Given the description of an element on the screen output the (x, y) to click on. 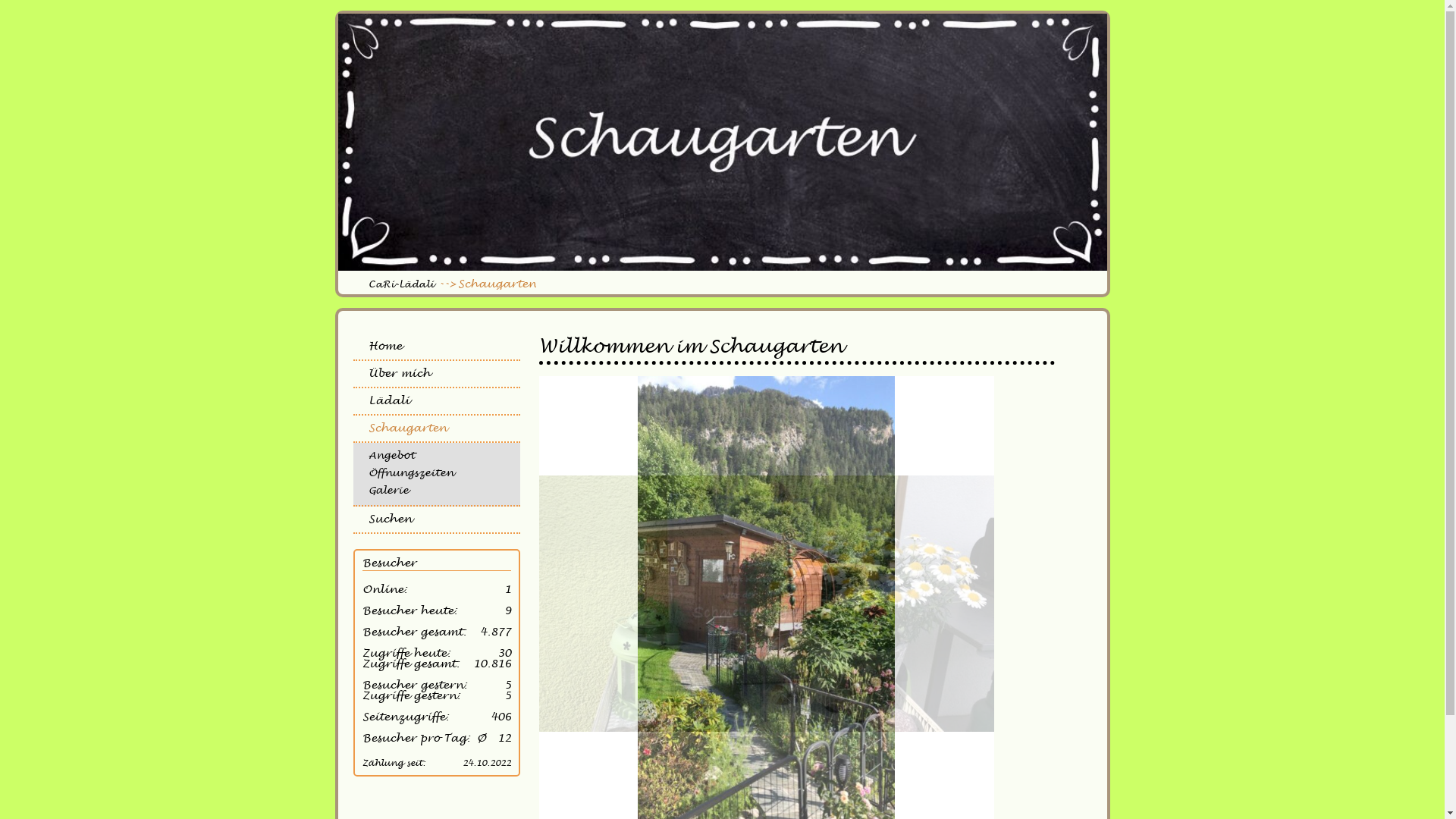
Suchen Element type: text (436, 519)
  Element type: text (366, 541)
Galerie Element type: text (436, 489)
Angebot Element type: text (436, 455)
Home Element type: text (436, 346)
